Given the description of an element on the screen output the (x, y) to click on. 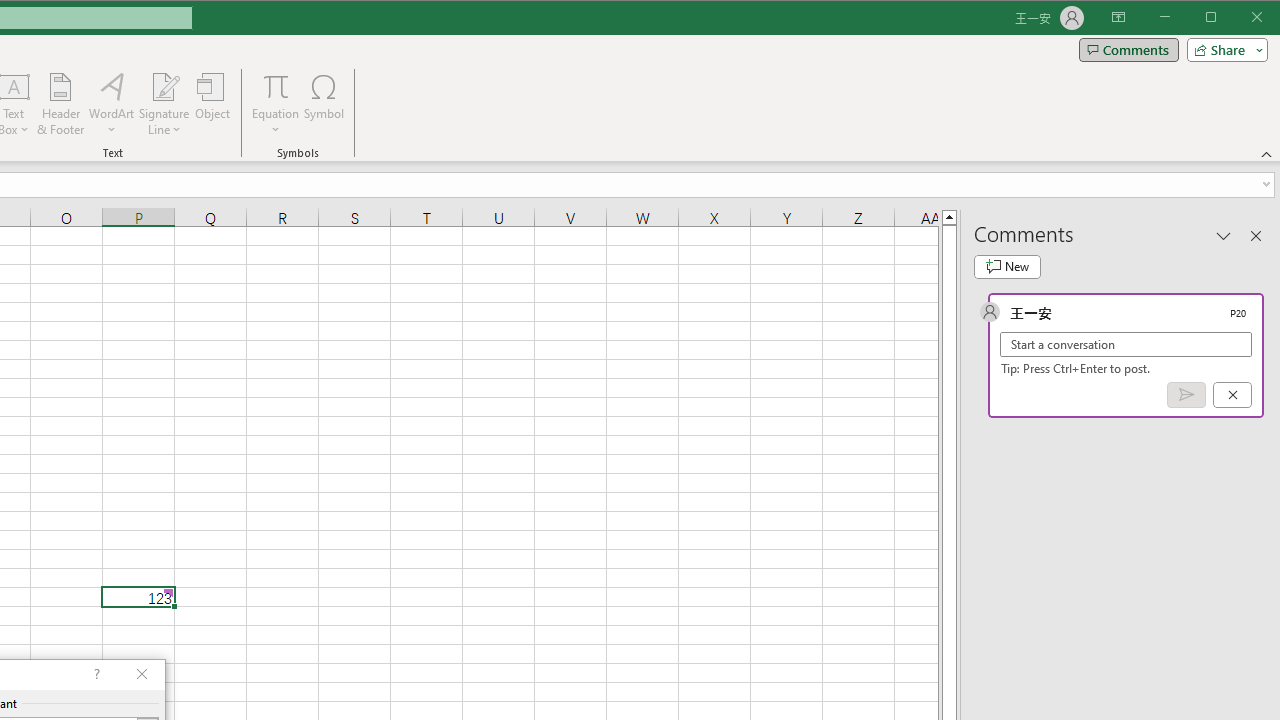
Header & Footer... (60, 104)
New comment (1007, 266)
Equation (275, 104)
Signature Line (164, 86)
Symbol... (324, 104)
Cancel (1232, 395)
Signature Line (164, 104)
